Given the description of an element on the screen output the (x, y) to click on. 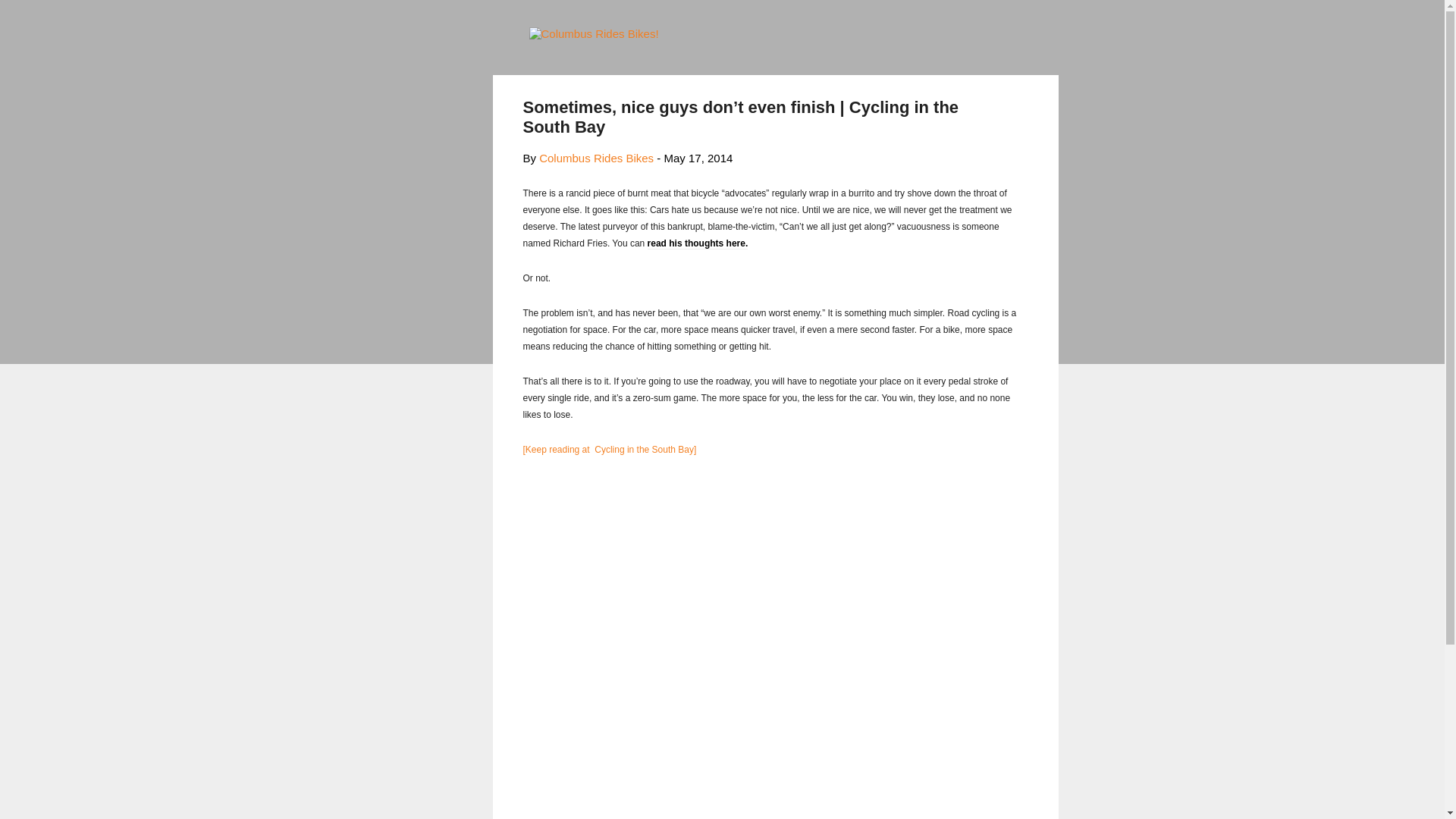
Email Post (562, 536)
author profile (595, 157)
May 17, 2014 (697, 157)
Columbus Rides Bikes (595, 157)
Search (29, 18)
read his thoughts here. (697, 243)
permanent link (697, 157)
